Given the description of an element on the screen output the (x, y) to click on. 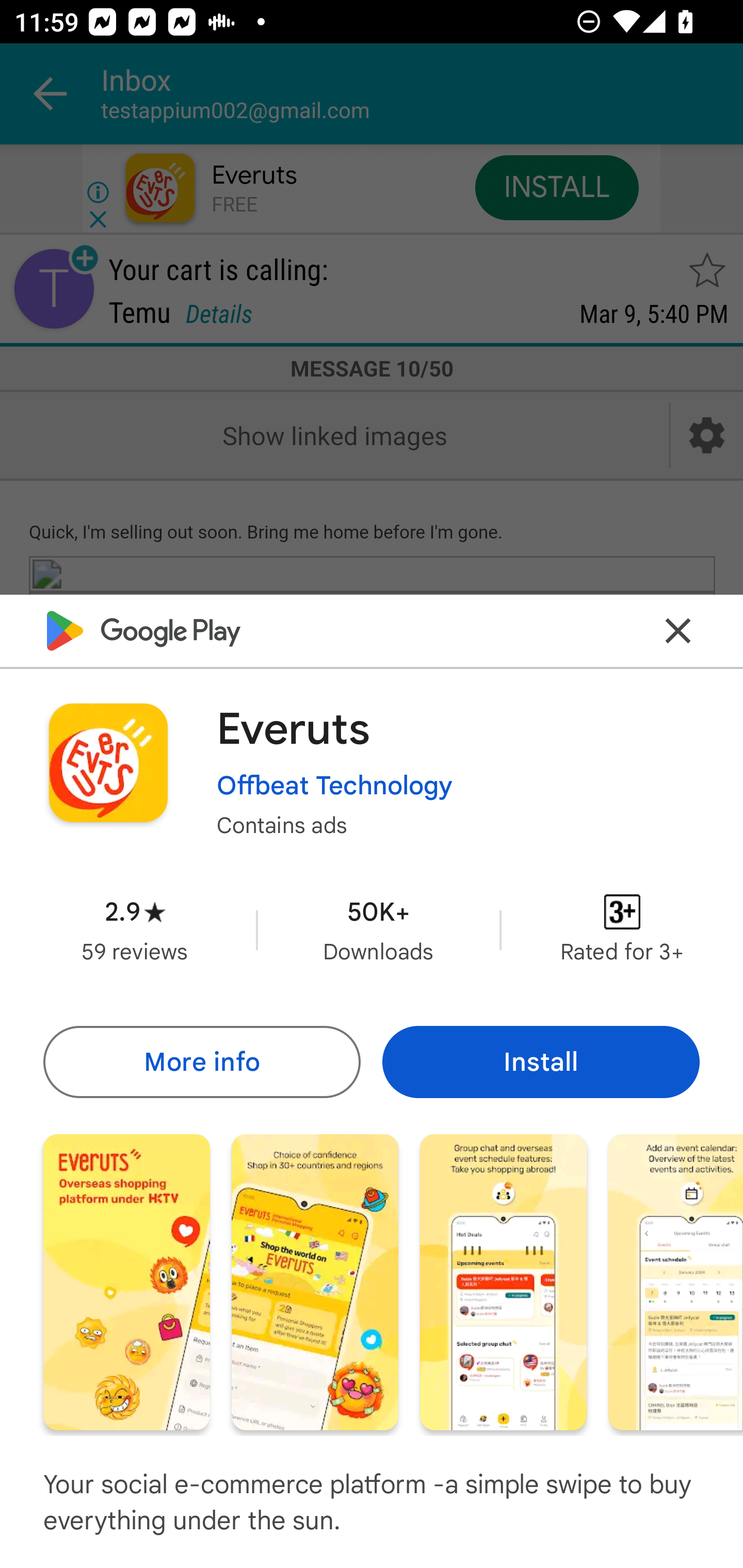
Close (677, 630)
Image of app or game icon for Everuts (108, 762)
Offbeat Technology (334, 784)
More info (201, 1061)
Install (540, 1061)
Screenshot "1" of "7" (126, 1281)
Screenshot "2" of "7" (314, 1281)
Screenshot "3" of "7" (502, 1281)
Screenshot "4" of "7" (675, 1281)
